Given the description of an element on the screen output the (x, y) to click on. 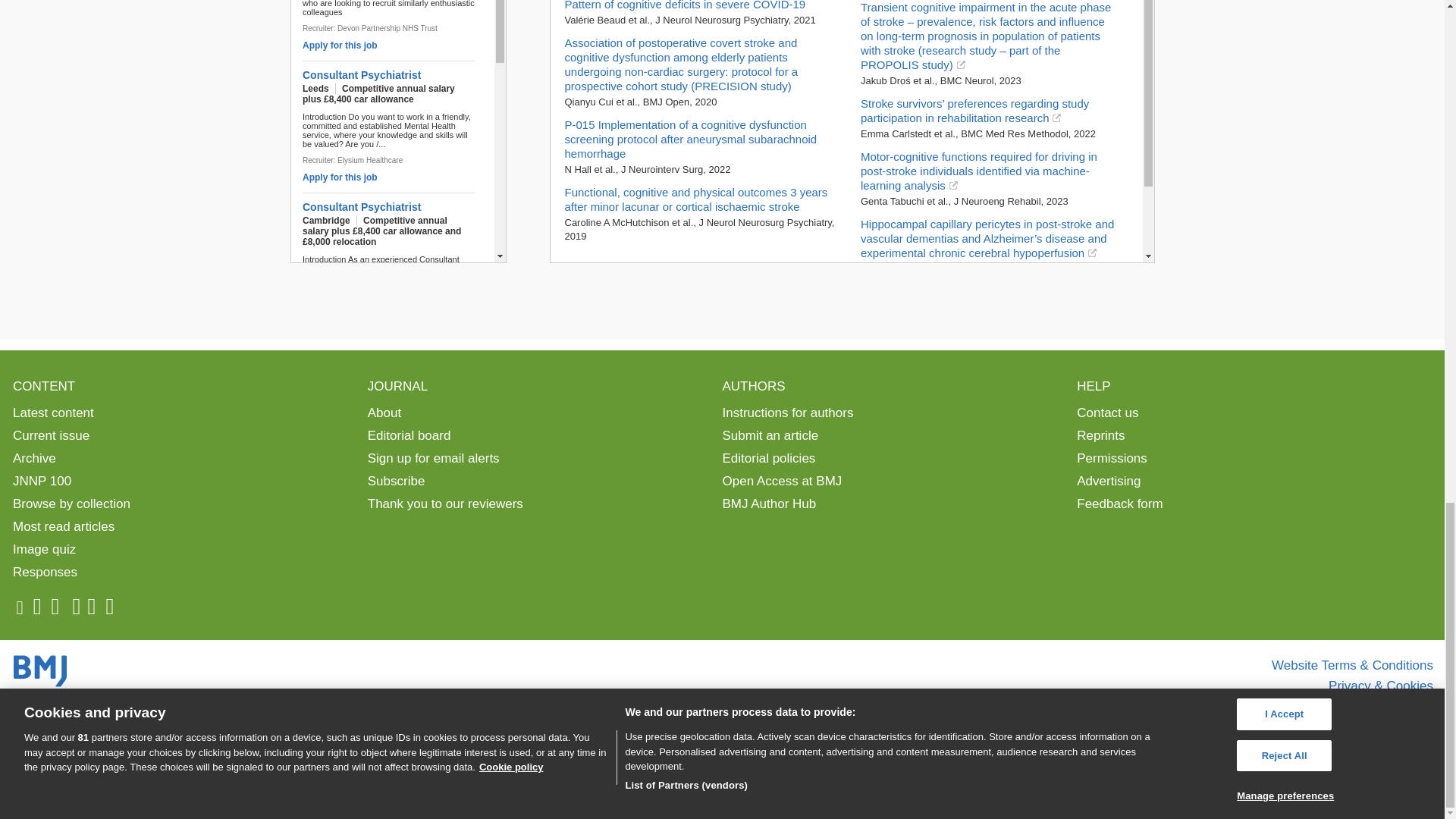
careers widget (397, 131)
